Given the description of an element on the screen output the (x, y) to click on. 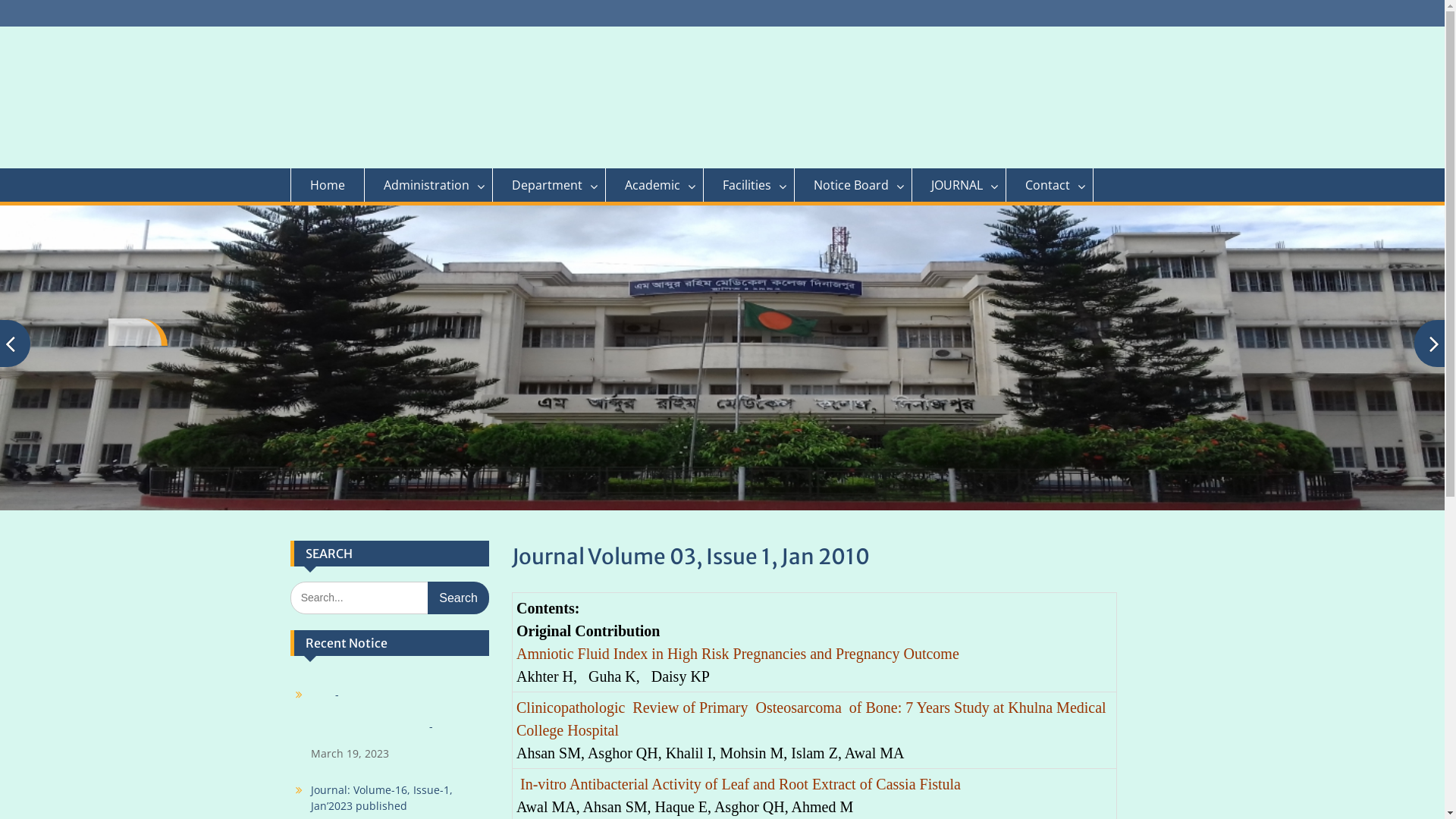
Department Element type: text (548, 184)
Contact Element type: text (1048, 184)
Facilities Element type: text (748, 184)
Home Element type: text (326, 184)
Search Element type: text (458, 597)
Search for: Element type: hover (389, 597)
Academic Element type: text (653, 184)
Notice Board Element type: text (853, 184)
Administration Element type: text (428, 184)
JOURNAL Element type: text (958, 184)
